Given the description of an element on the screen output the (x, y) to click on. 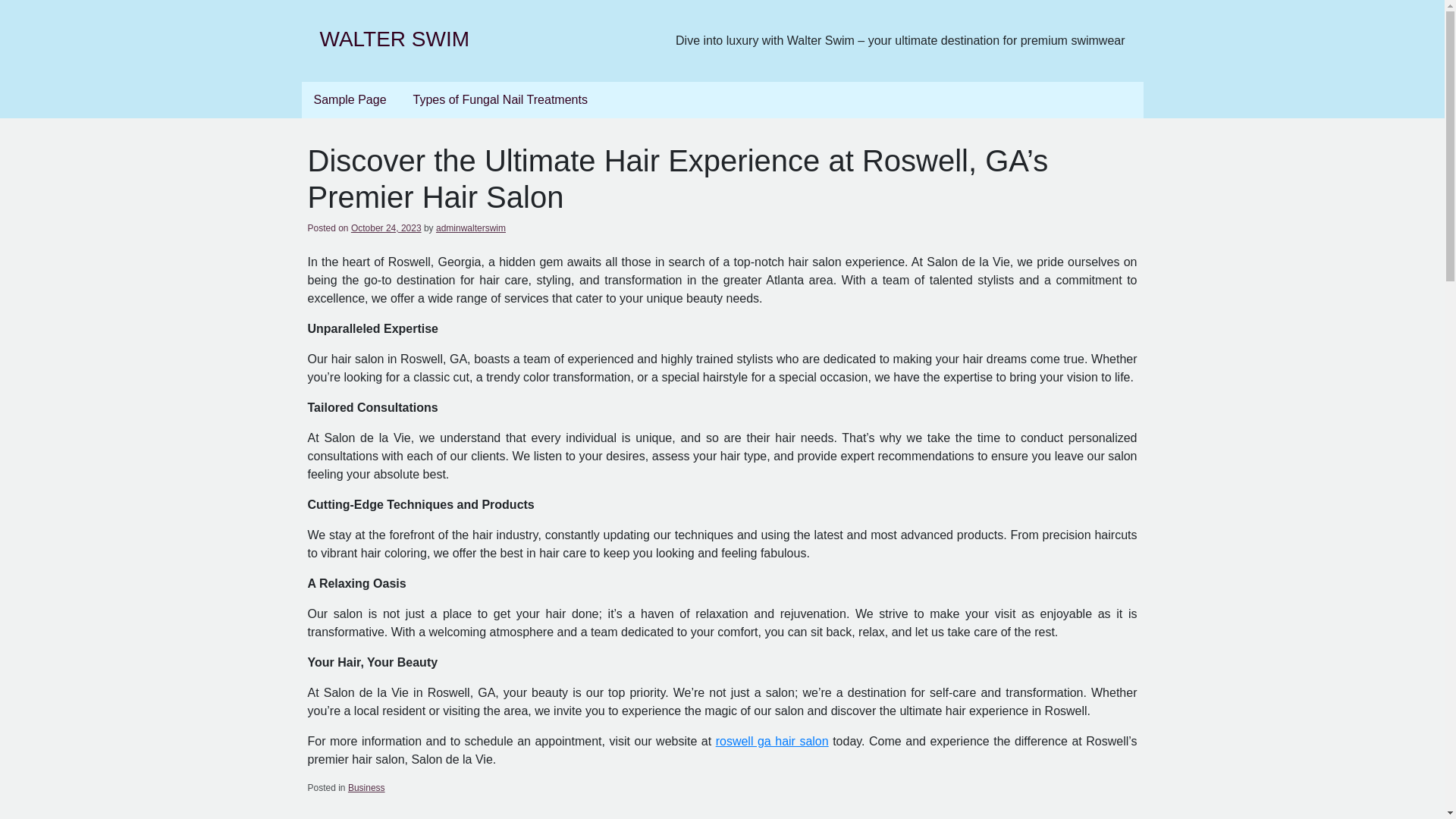
Business (366, 787)
adminwalterswim (470, 227)
Types of Fungal Nail Treatments (500, 99)
Sample Page (349, 99)
October 24, 2023 (386, 227)
roswell ga hair salon (772, 740)
WALTER SWIM (395, 38)
